Given the description of an element on the screen output the (x, y) to click on. 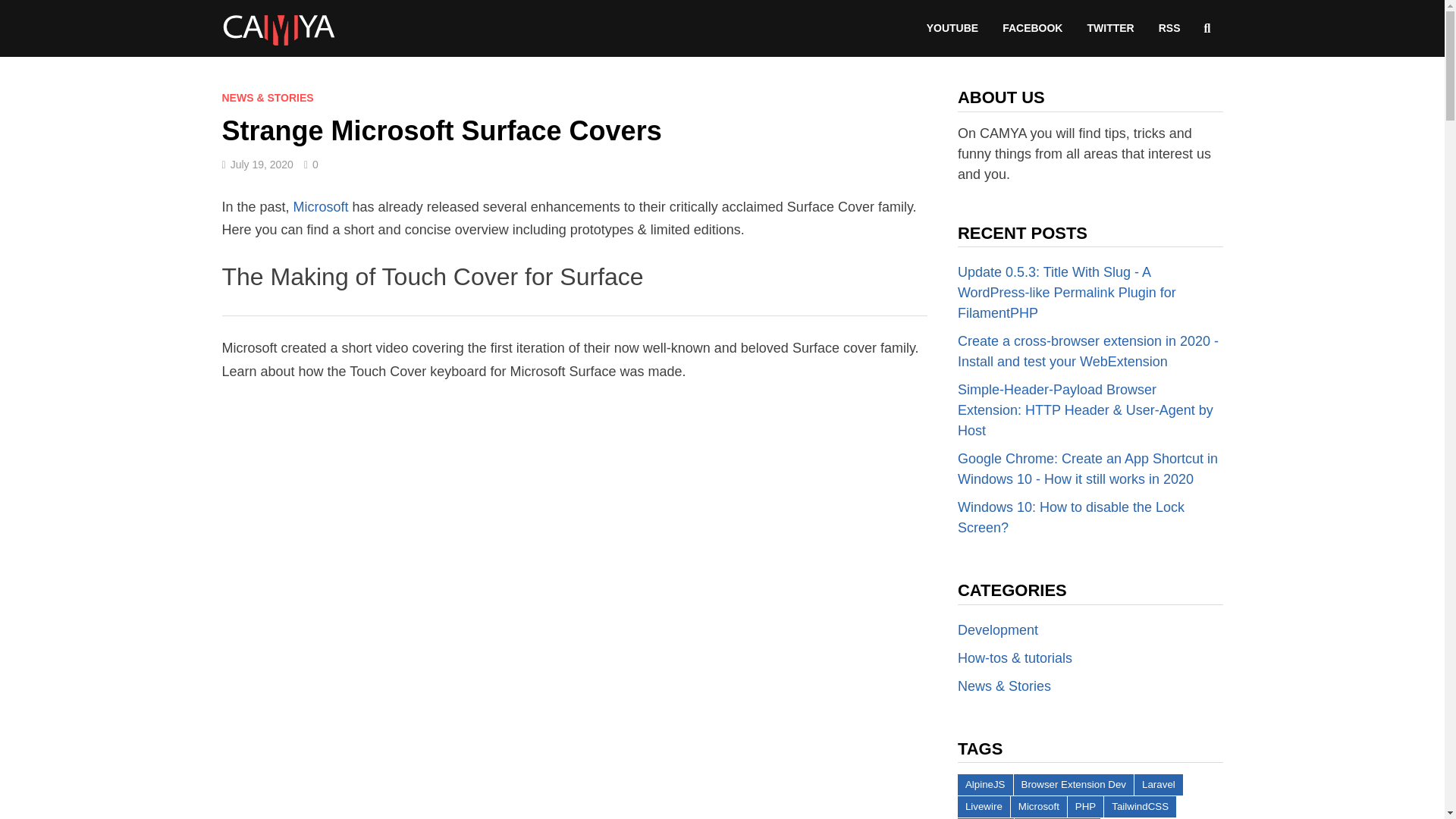
Microsoft (321, 206)
RSS (1169, 28)
FACEBOOK (1032, 28)
July 19, 2020 (262, 164)
TWITTER (1109, 28)
YOUTUBE (952, 28)
